Given the description of an element on the screen output the (x, y) to click on. 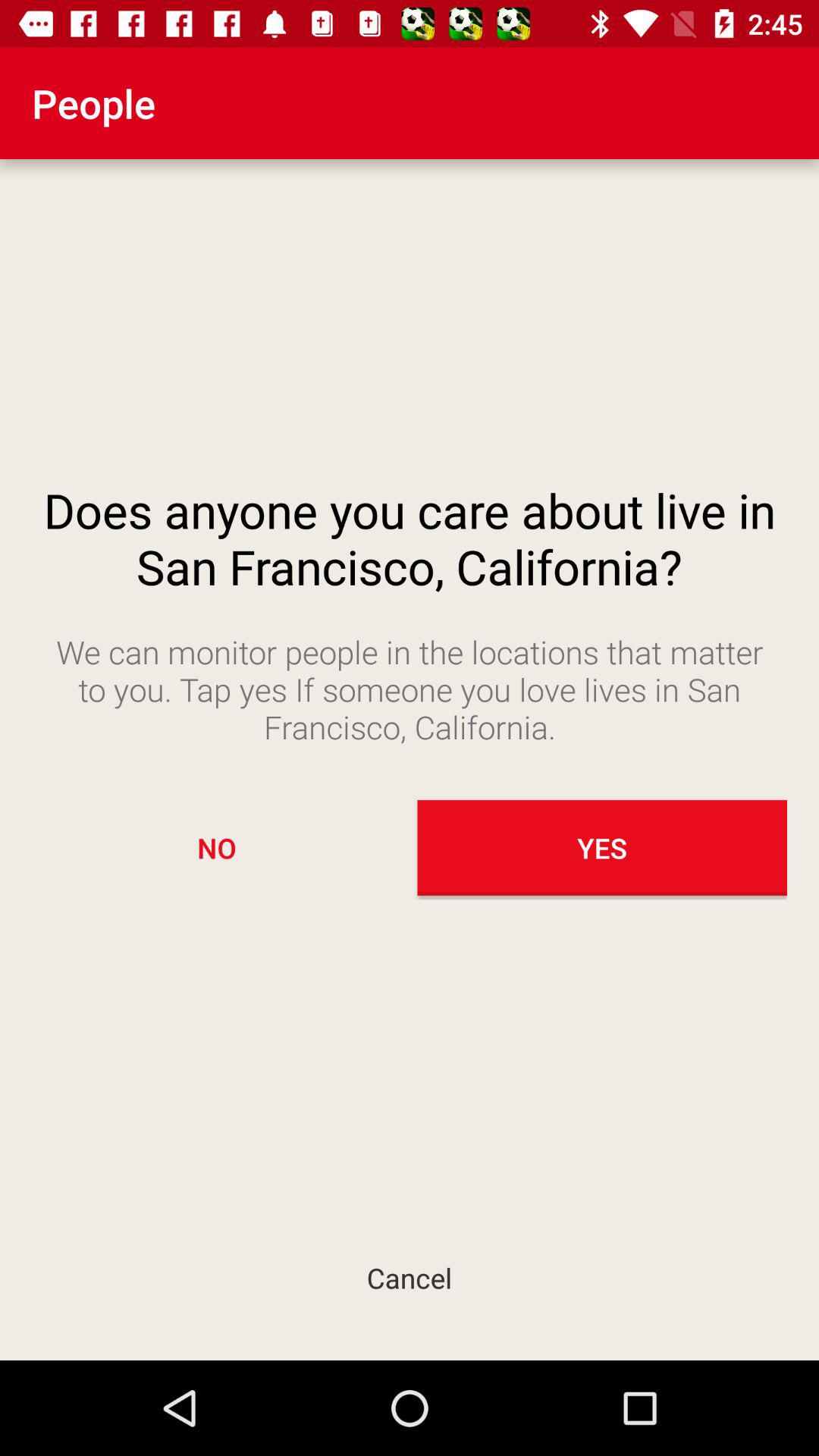
click the icon below the we can monitor icon (216, 847)
